Given the description of an element on the screen output the (x, y) to click on. 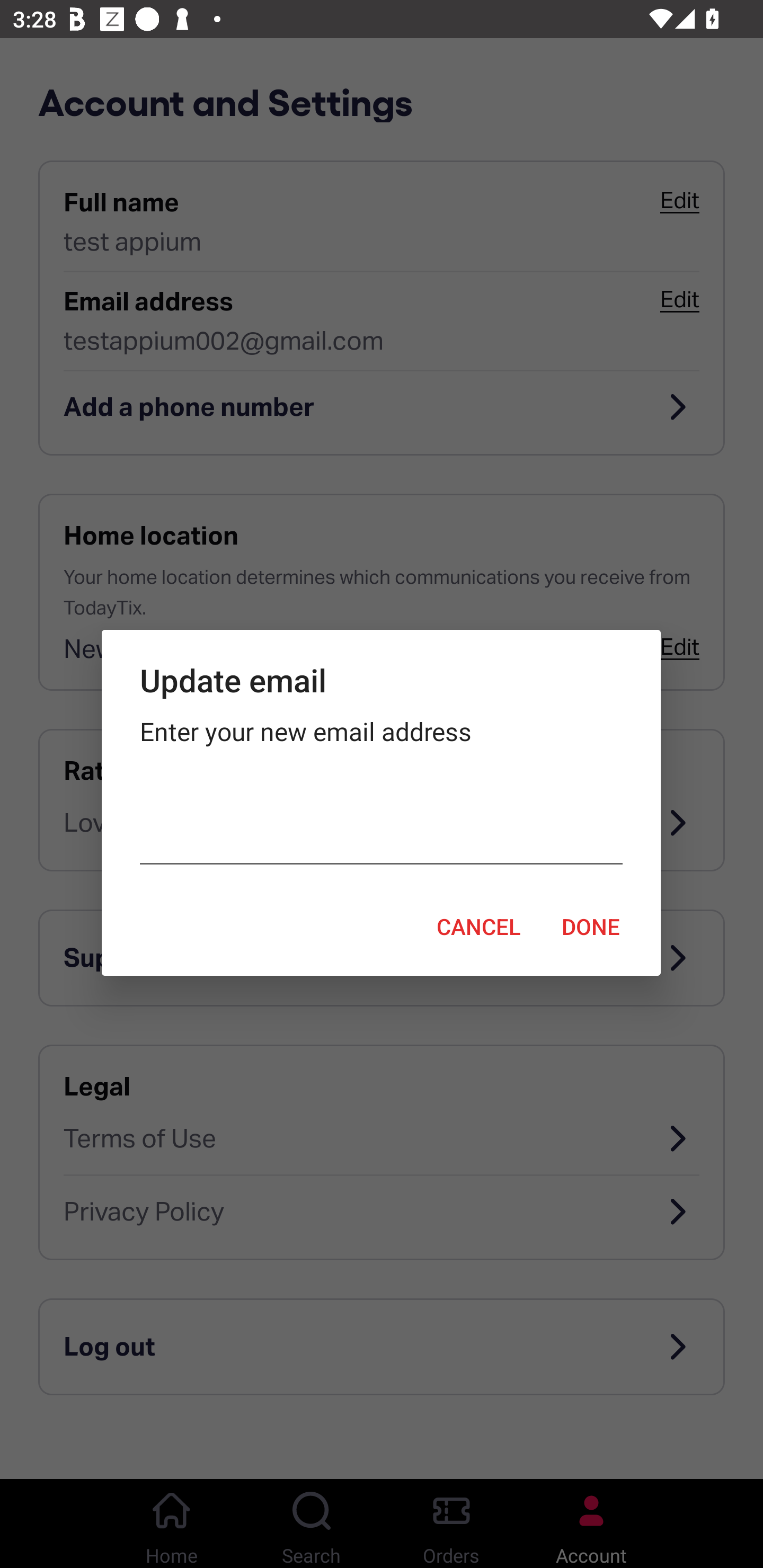
CANCEL (478, 926)
DONE (590, 926)
